Given the description of an element on the screen output the (x, y) to click on. 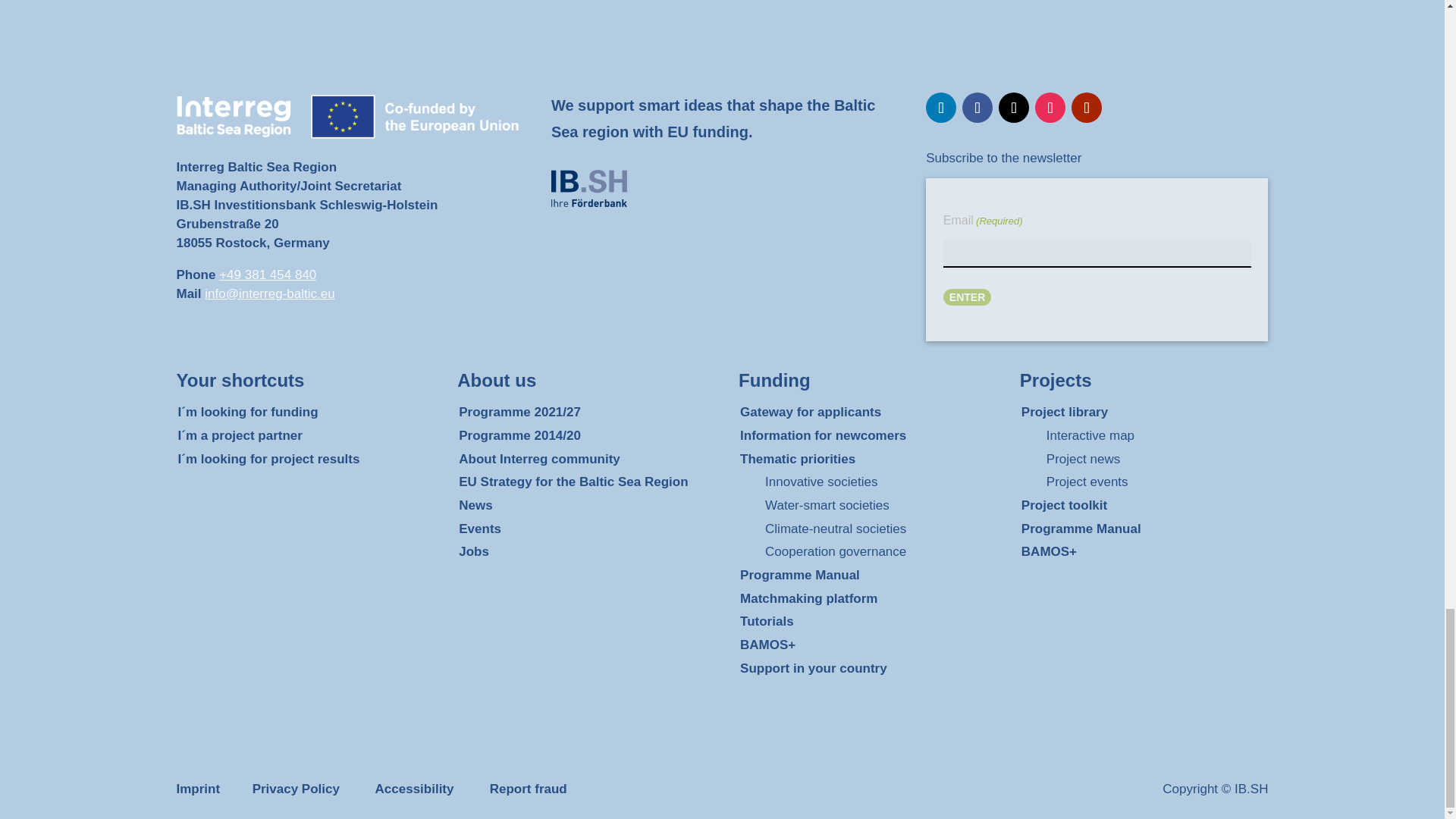
Follow on Instagram (1050, 107)
Follow on Youtube (1086, 107)
Follow on Facebook (977, 107)
Follow on X (1013, 107)
Follow on LinkedIn (941, 107)
logo (589, 188)
Enter (967, 297)
